Given the description of an element on the screen output the (x, y) to click on. 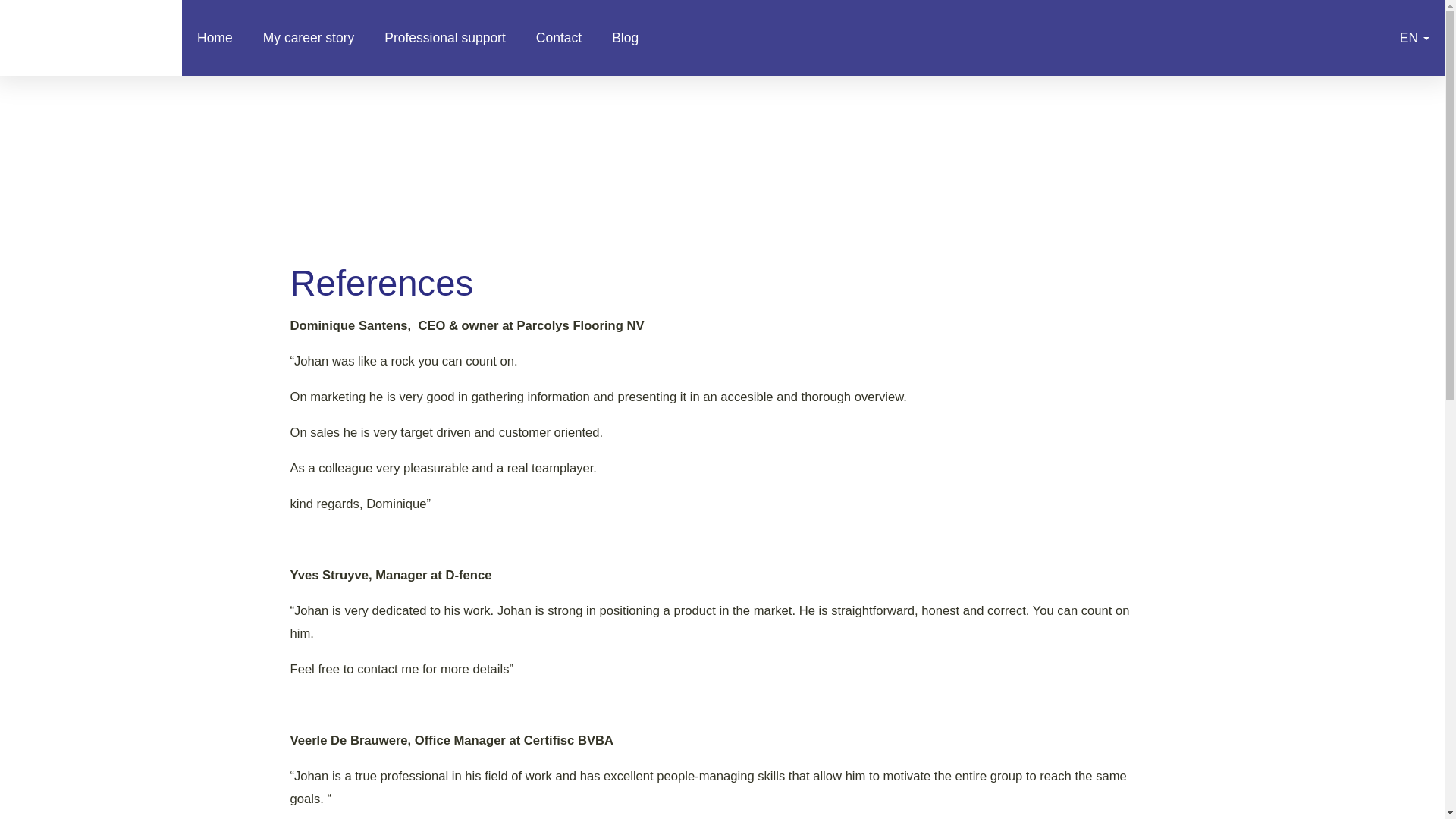
Contact (558, 38)
Professional support (445, 38)
References (91, 38)
ebucon (316, 134)
My career story (308, 38)
